Given the description of an element on the screen output the (x, y) to click on. 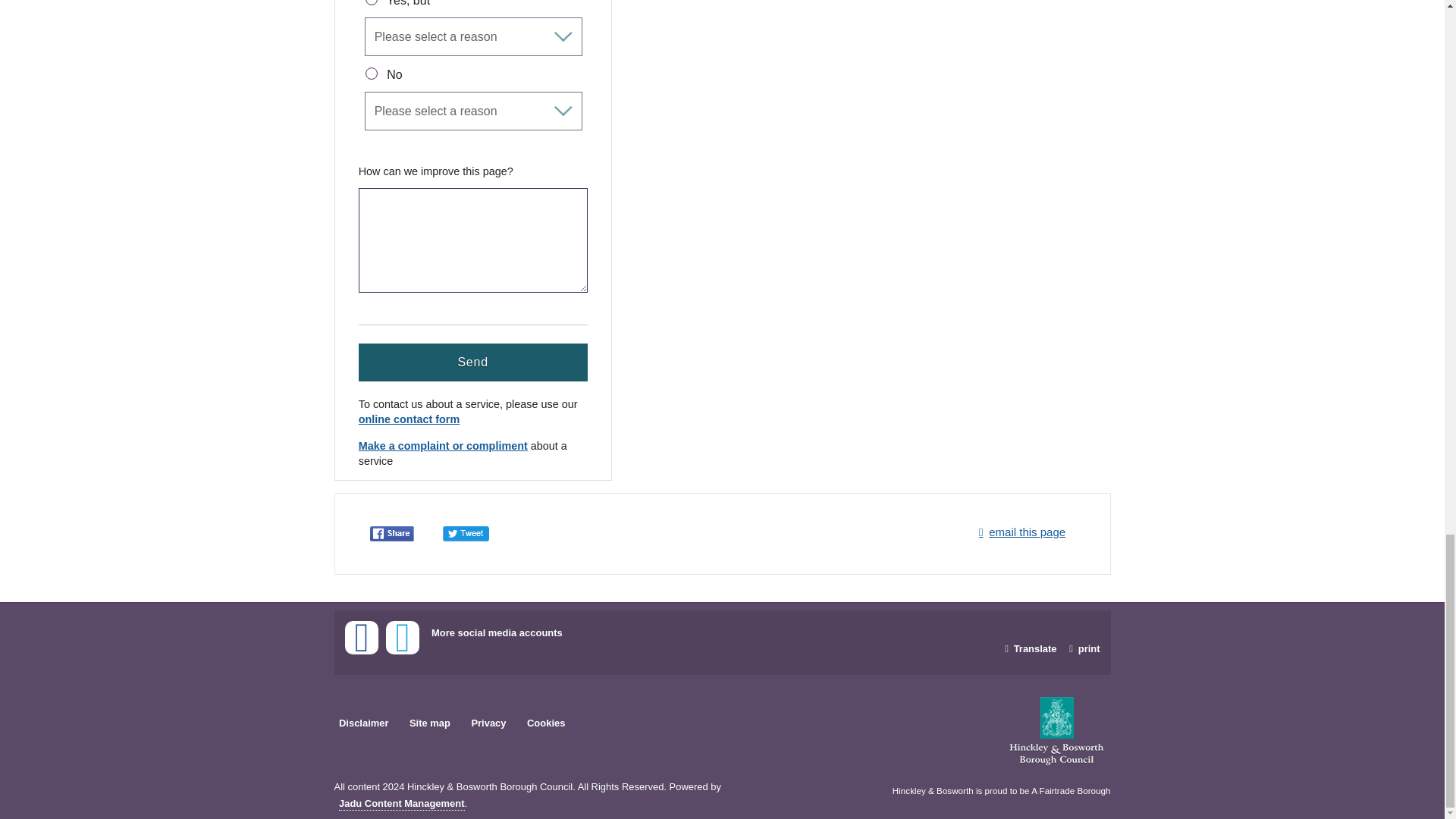
Send (473, 362)
-1 (371, 73)
0 (371, 2)
email this page (1018, 532)
Jadu Content Management (401, 803)
print (1082, 648)
Disclaimer (363, 723)
Privacy (487, 723)
Main council Facebook page (360, 637)
online contact form (409, 419)
